Given the description of an element on the screen output the (x, y) to click on. 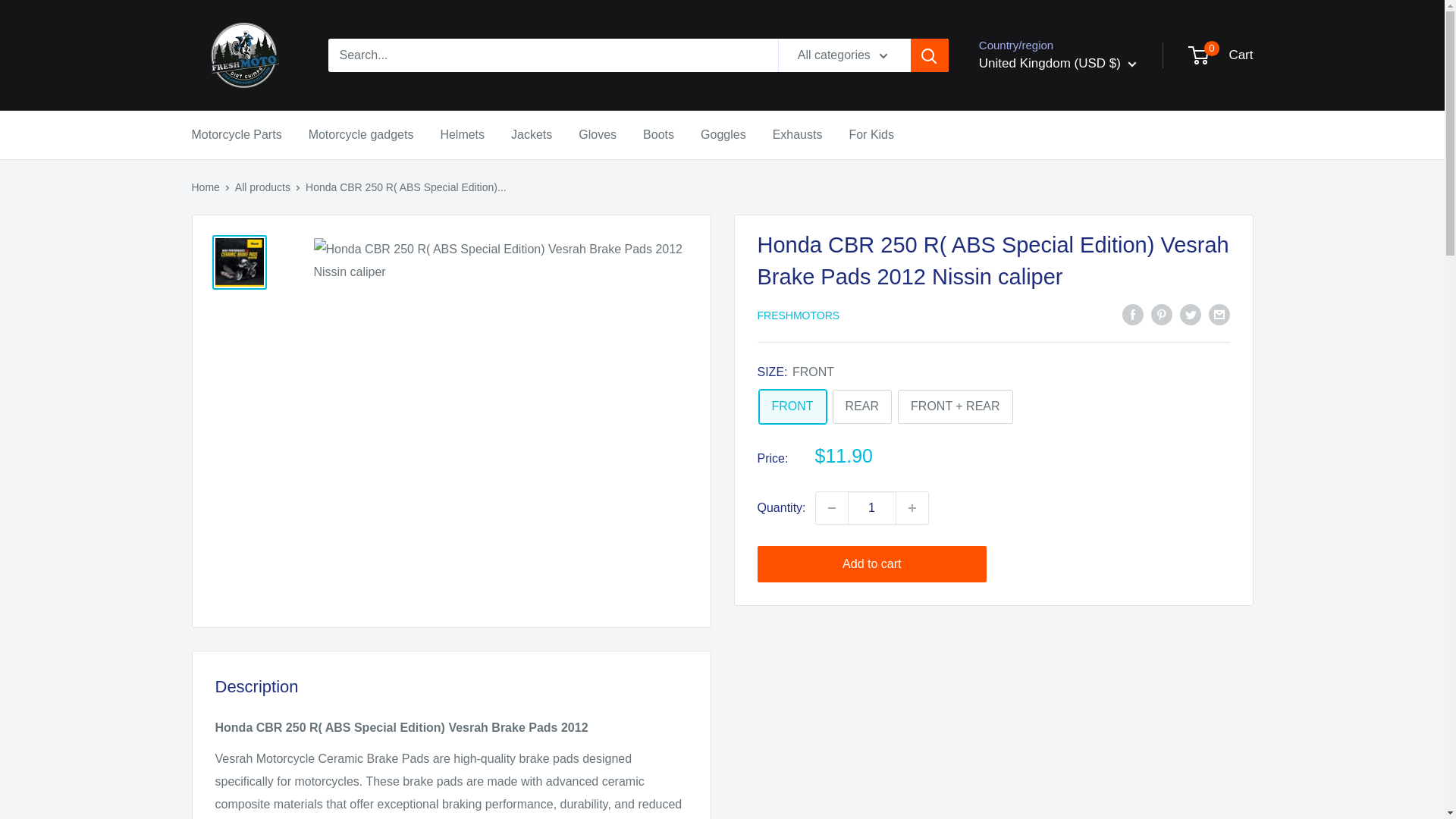
BH (1046, 391)
Decrease quantity by 1 (831, 508)
AI (1046, 206)
AF (1046, 113)
Freshmotorcycle (243, 55)
AD (1046, 183)
REAR (861, 406)
AL (1046, 159)
AT (1046, 321)
AW (1046, 275)
AZ (1046, 345)
AG (1046, 229)
Increase quantity by 1 (912, 508)
BS (1046, 368)
AM (1046, 252)
